Given the description of an element on the screen output the (x, y) to click on. 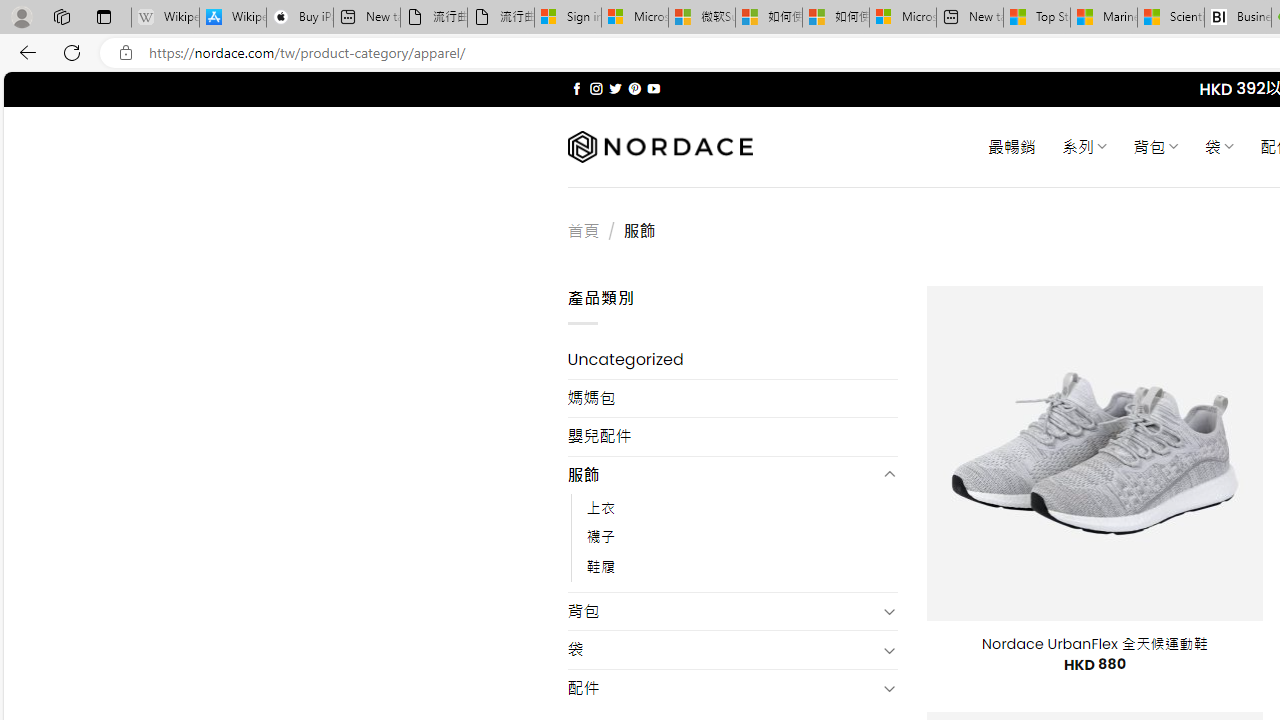
Follow on Instagram (596, 88)
Sign in to your Microsoft account (568, 17)
Uncategorized (732, 359)
Follow on Twitter (615, 88)
